Given the description of an element on the screen output the (x, y) to click on. 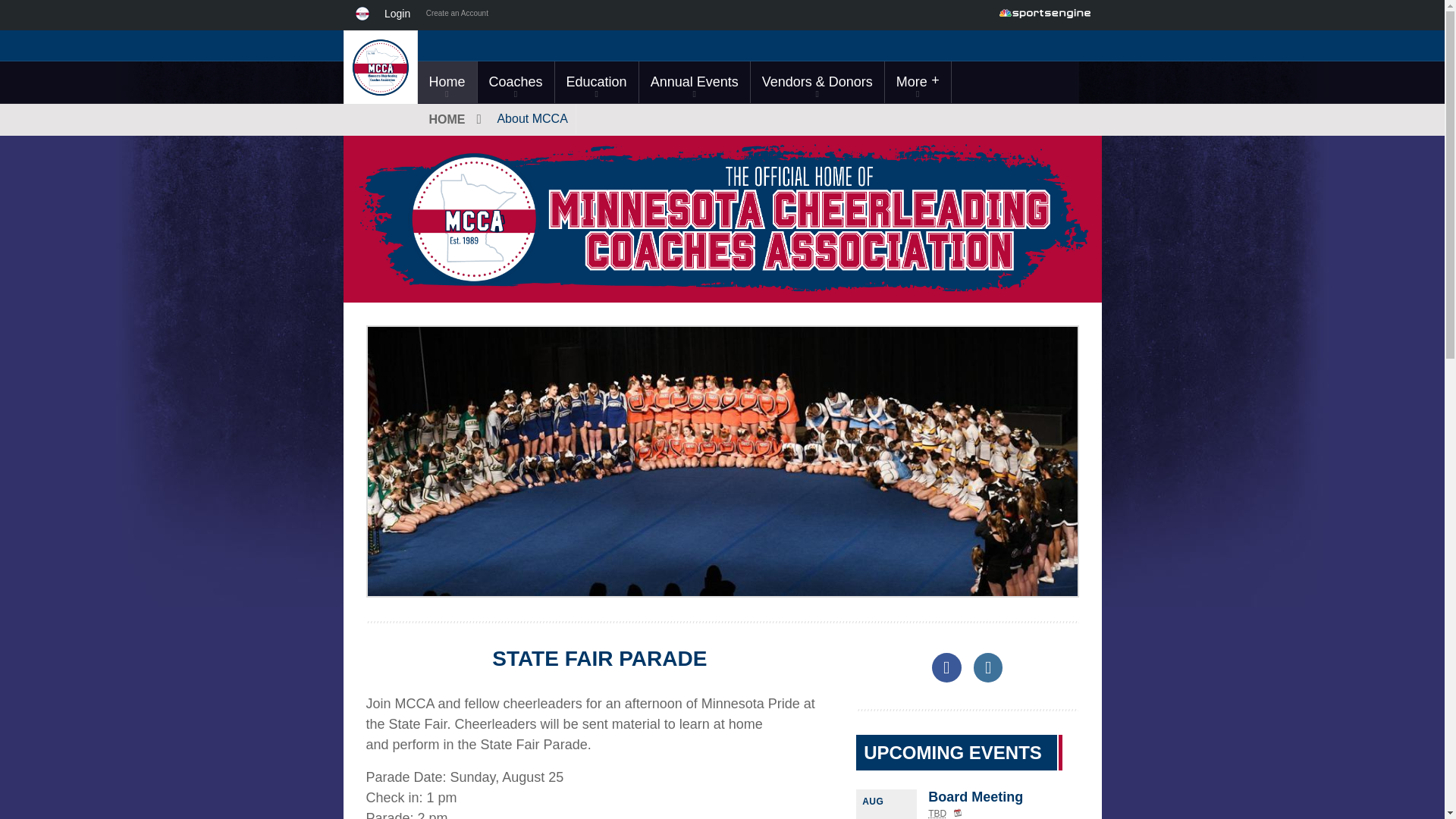
click to go to 'Coaches' (515, 82)
Education (596, 82)
Create an Account (457, 15)
Login (400, 15)
click to go to 'Home' (446, 82)
HOME (452, 119)
Home (446, 82)
Coaches (515, 82)
click to go to 'Education' (596, 82)
click to go to 'Annual Events' (694, 82)
